Given the description of an element on the screen output the (x, y) to click on. 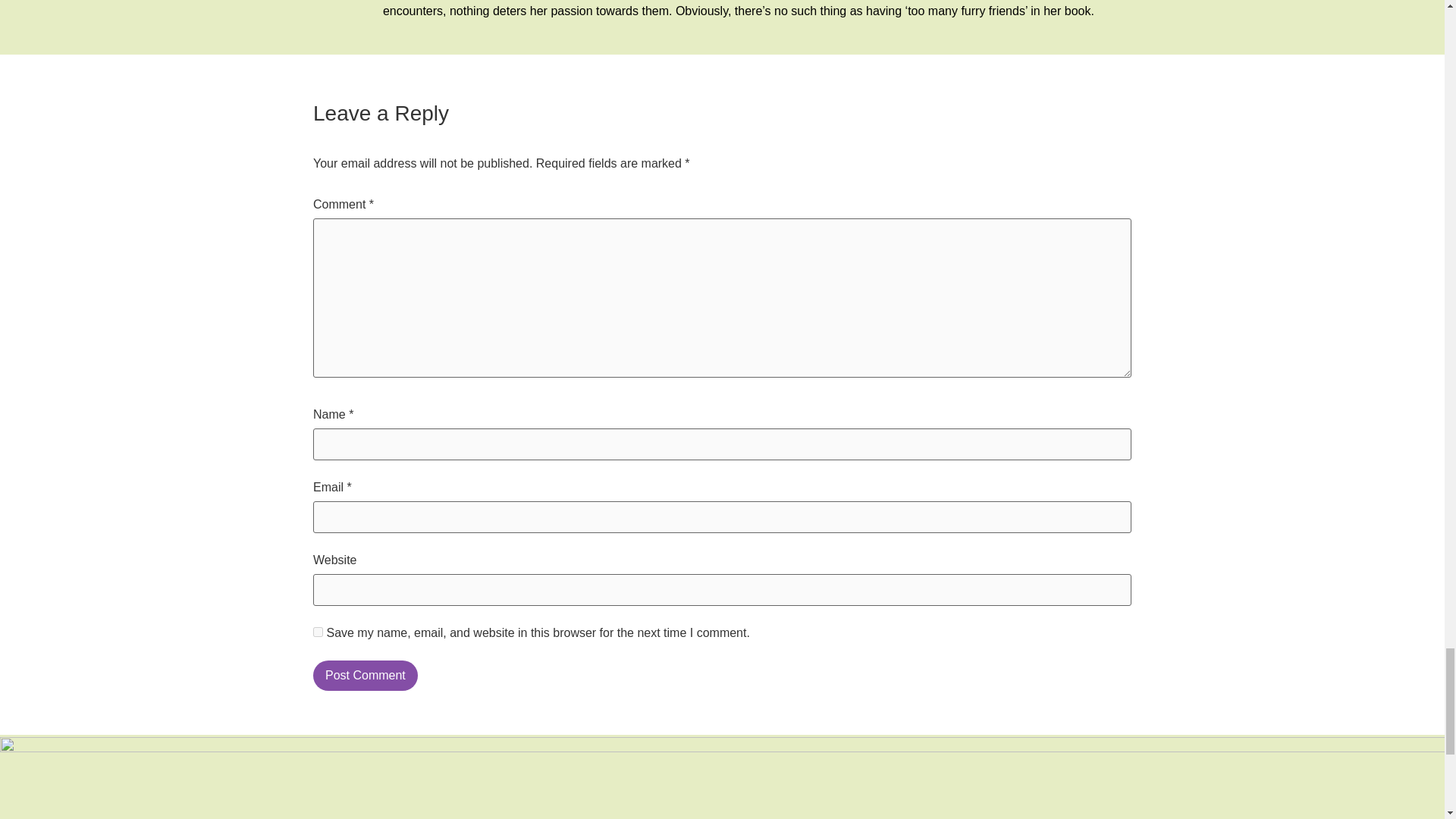
Post Comment (365, 675)
yes (318, 632)
